Given the description of an element on the screen output the (x, y) to click on. 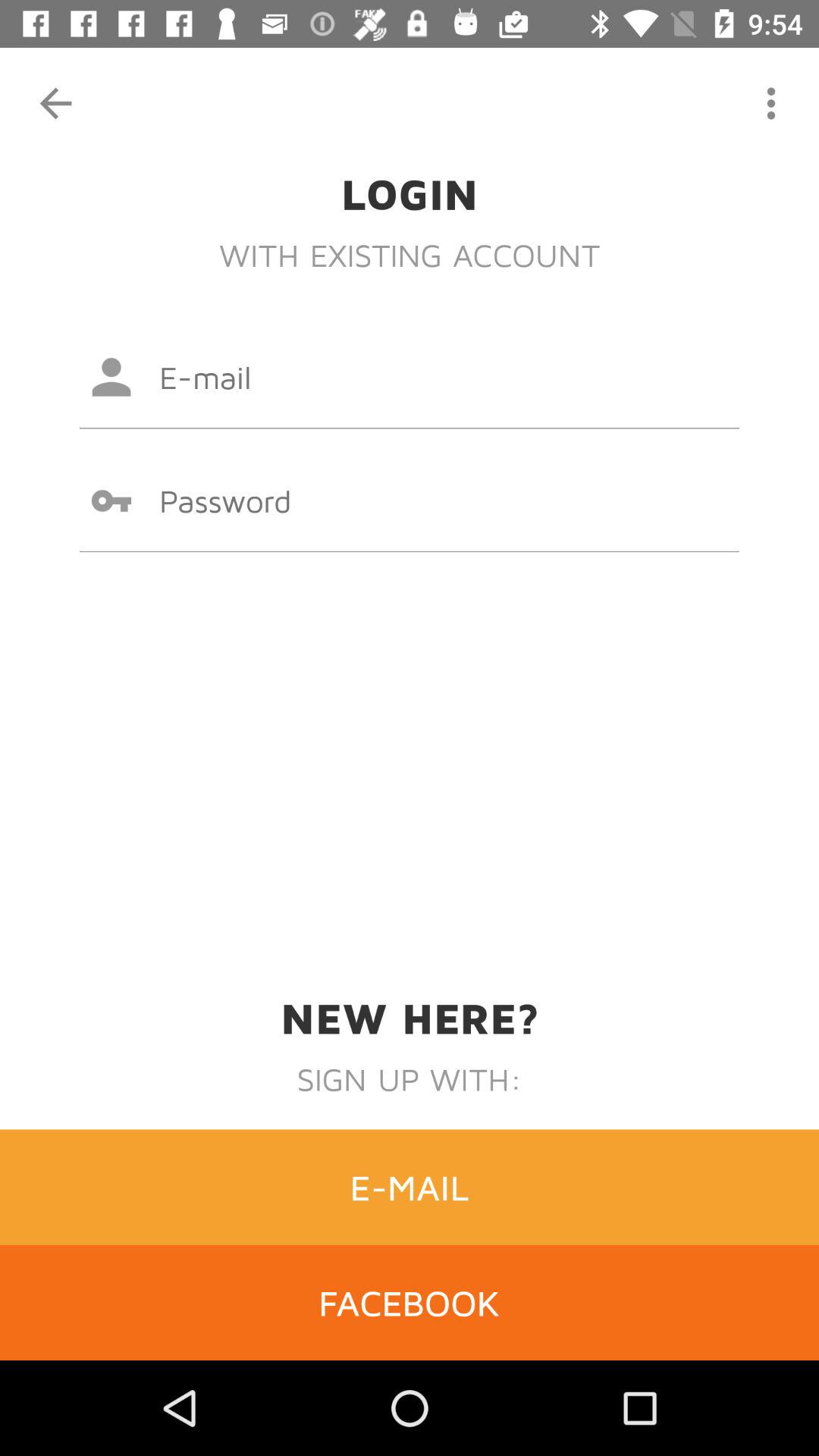
tap item above the facebook (409, 1186)
